Given the description of an element on the screen output the (x, y) to click on. 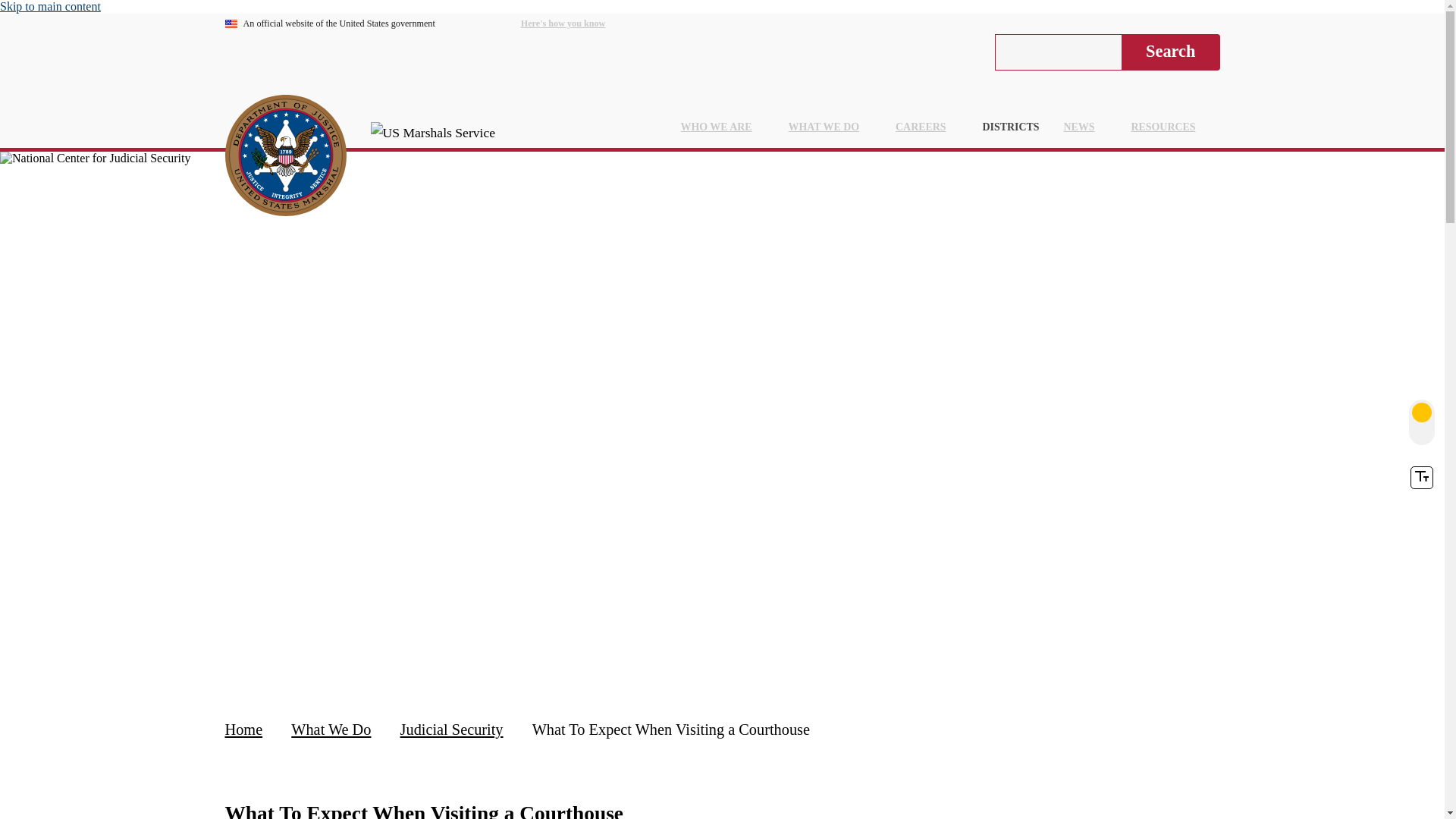
RESOURCES (1169, 126)
WHAT WE DO (829, 126)
DISTRICTS (1011, 126)
Here's how you know (576, 23)
Home (245, 729)
WHO WE ARE (722, 126)
Judicial Security (453, 729)
Home (285, 158)
Search (1170, 52)
NEWS (1085, 126)
